Given the description of an element on the screen output the (x, y) to click on. 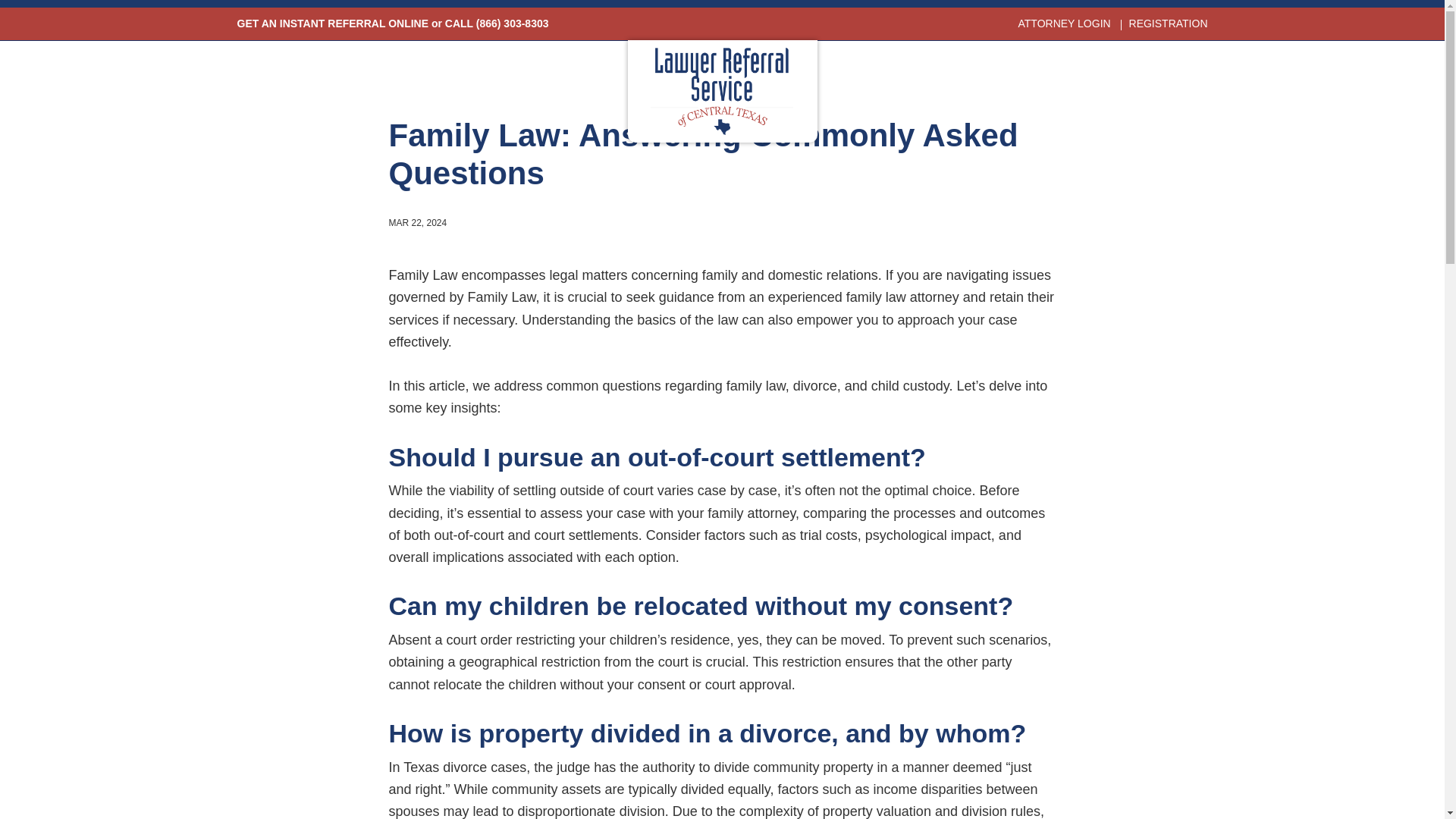
REGISTRATION (1168, 23)
INSTANT REFERRAL ONLINE (353, 23)
ATTORNEY LOGIN (1063, 23)
